Given the description of an element on the screen output the (x, y) to click on. 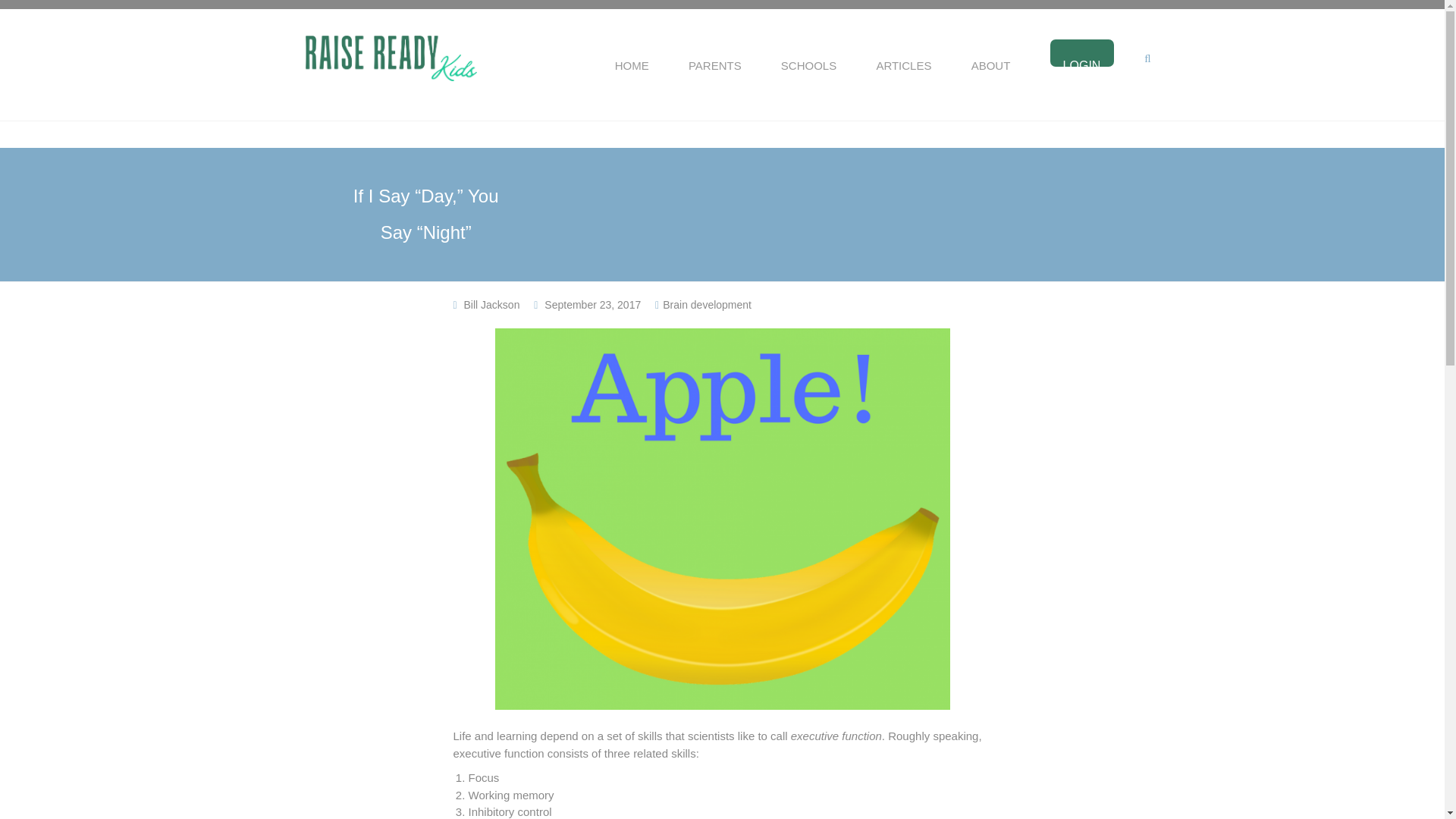
ARTICLES (903, 62)
PARENTS (714, 62)
SCHOOLS (807, 62)
11:16 am (592, 304)
LOGIN (1081, 62)
Brain development (706, 304)
September 23, 2017 (592, 304)
Bill Jackson (491, 304)
